Given the description of an element on the screen output the (x, y) to click on. 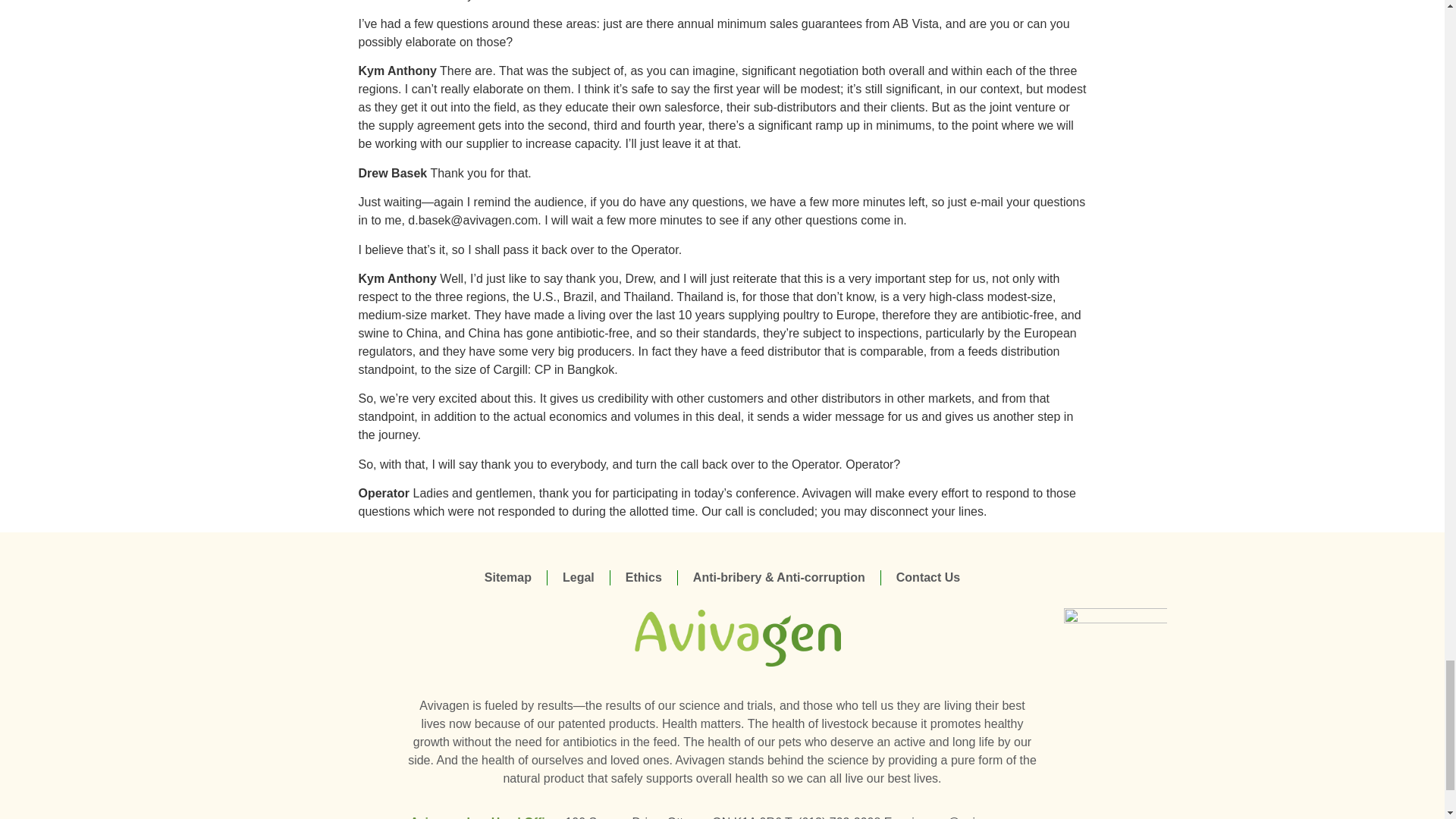
Contact Us (927, 577)
Legal (578, 577)
Ethics (644, 577)
Sitemap (507, 577)
